Given the description of an element on the screen output the (x, y) to click on. 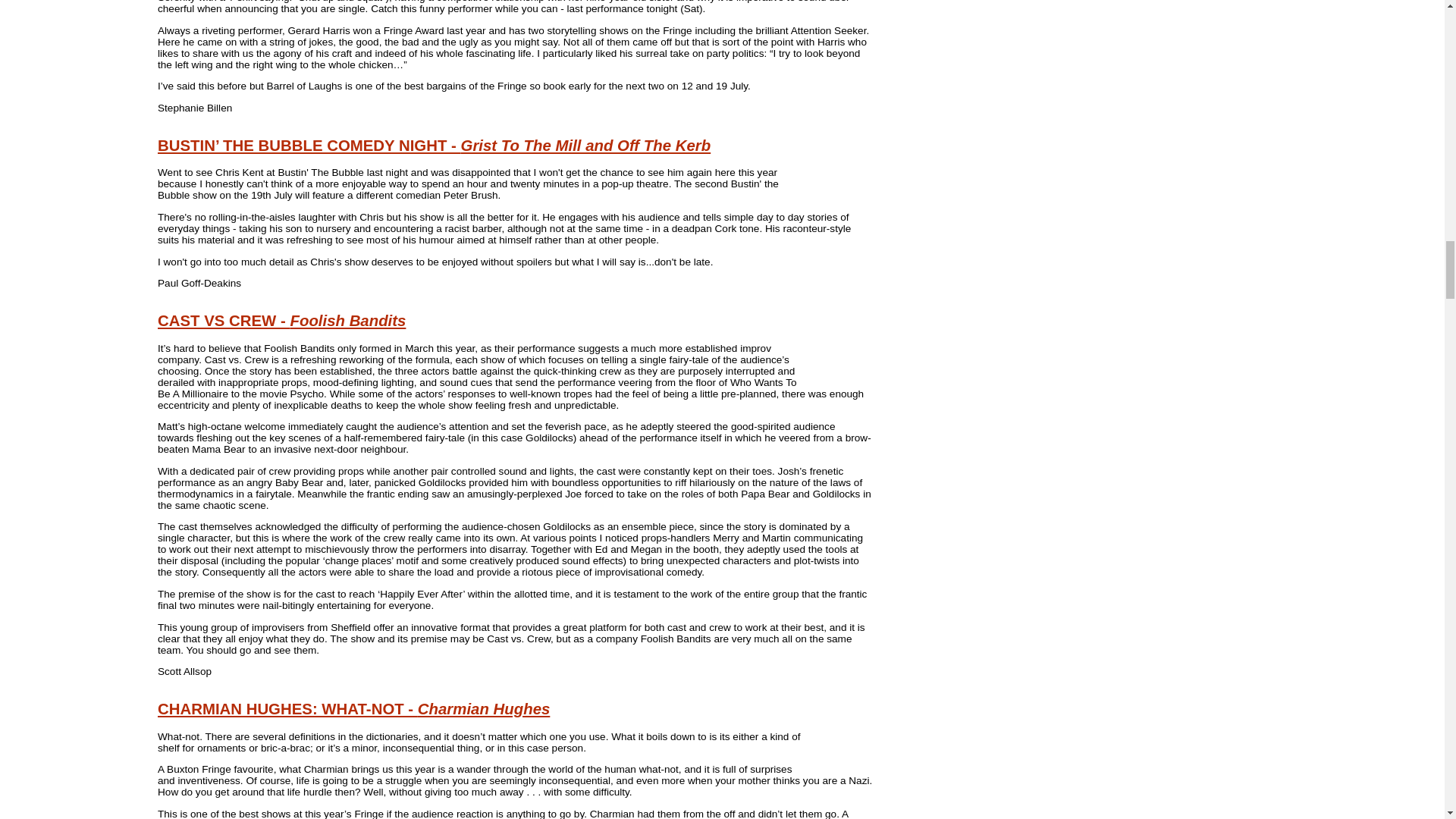
CAST VS CREW - Foolish Bandits (281, 320)
CHARMIAN HUGHES: WHAT-NOT - Charmian Hughes (353, 709)
